Given the description of an element on the screen output the (x, y) to click on. 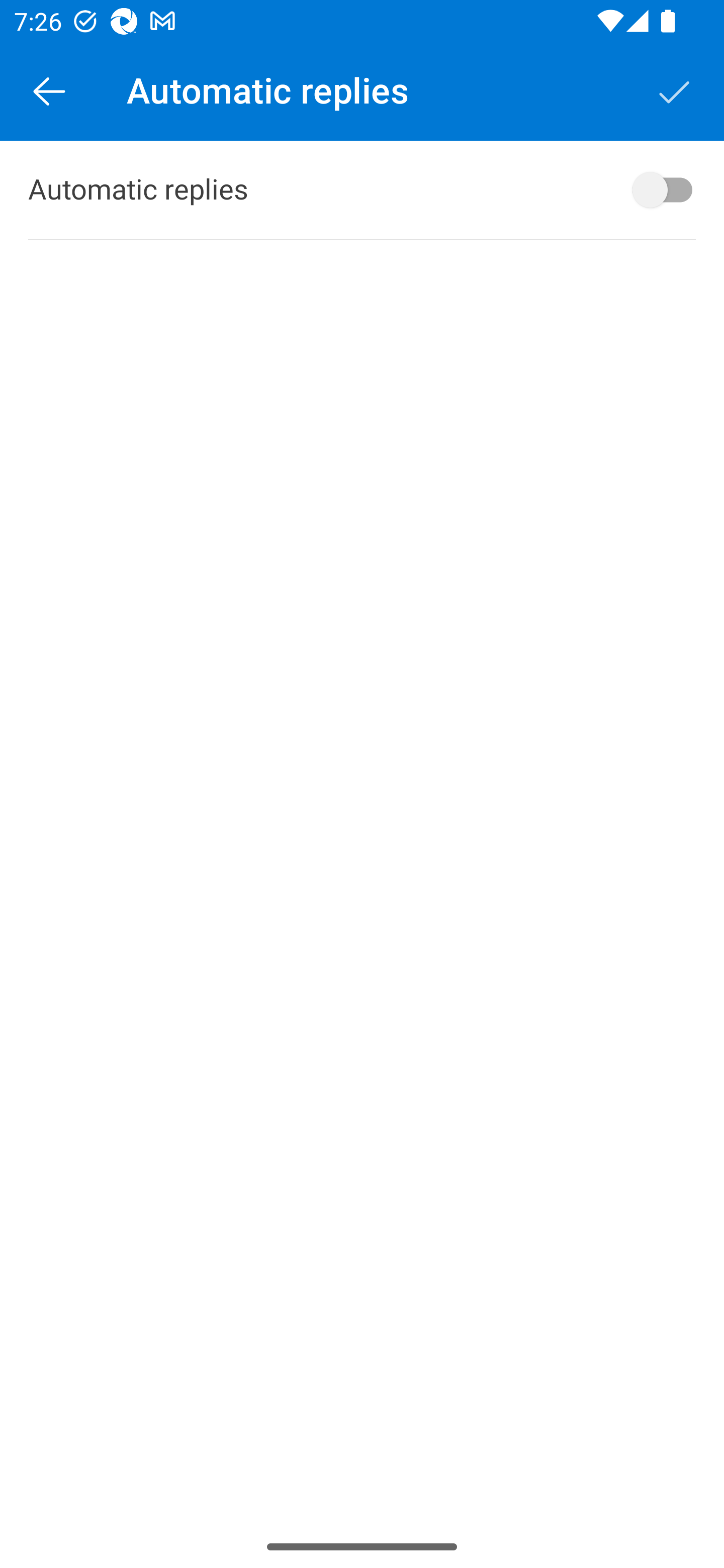
Back (49, 90)
Save (674, 90)
Automatic replies (362, 190)
